Given the description of an element on the screen output the (x, y) to click on. 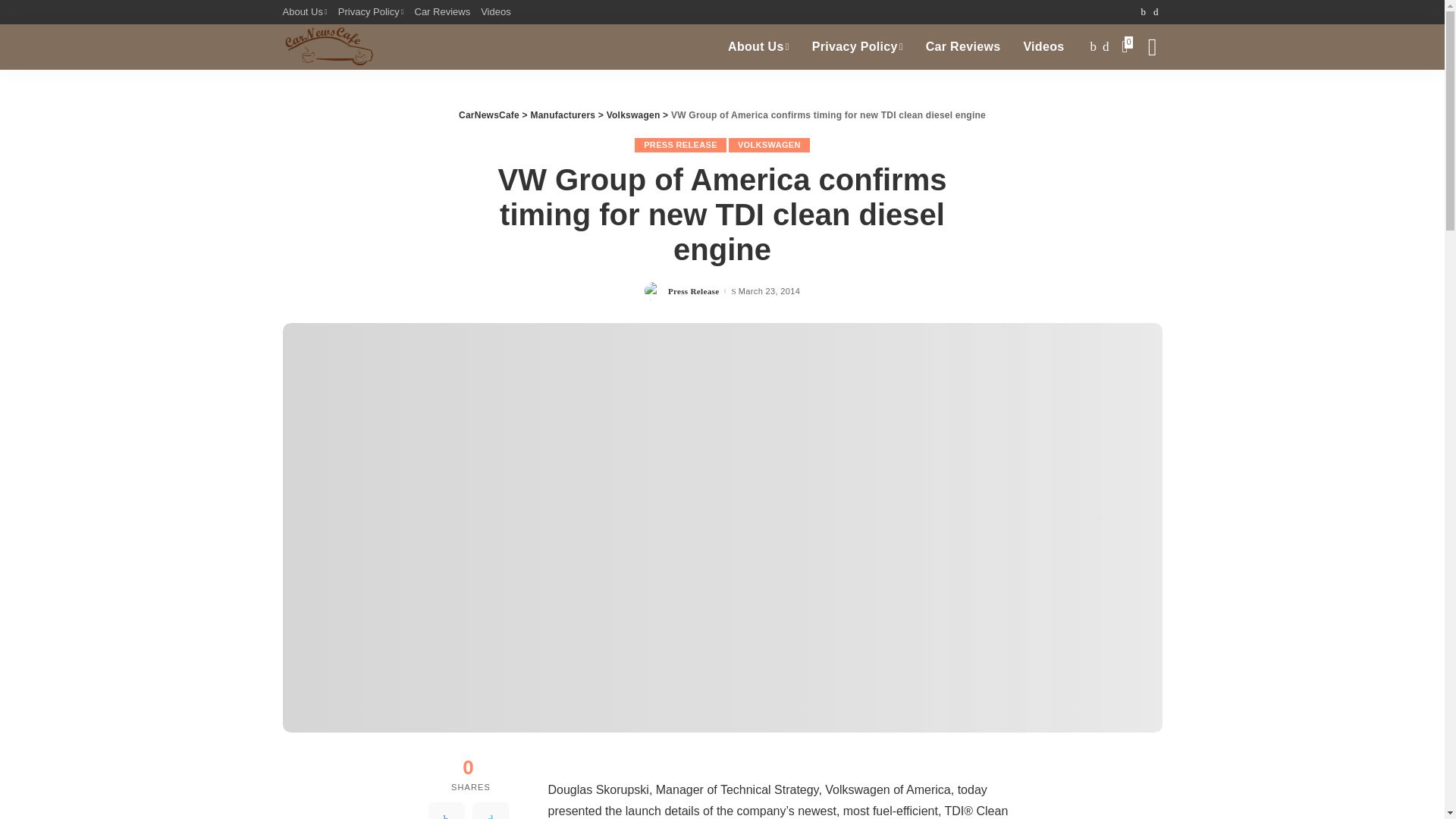
About Us (758, 46)
Twitter (489, 810)
Go to the Volkswagen Category archives. (634, 114)
Car Reviews (962, 46)
Videos (496, 12)
Search (1140, 97)
CarNewsCafe (328, 46)
Go to CarNewsCafe. (488, 114)
About Us (306, 12)
Facebook (446, 810)
